Given the description of an element on the screen output the (x, y) to click on. 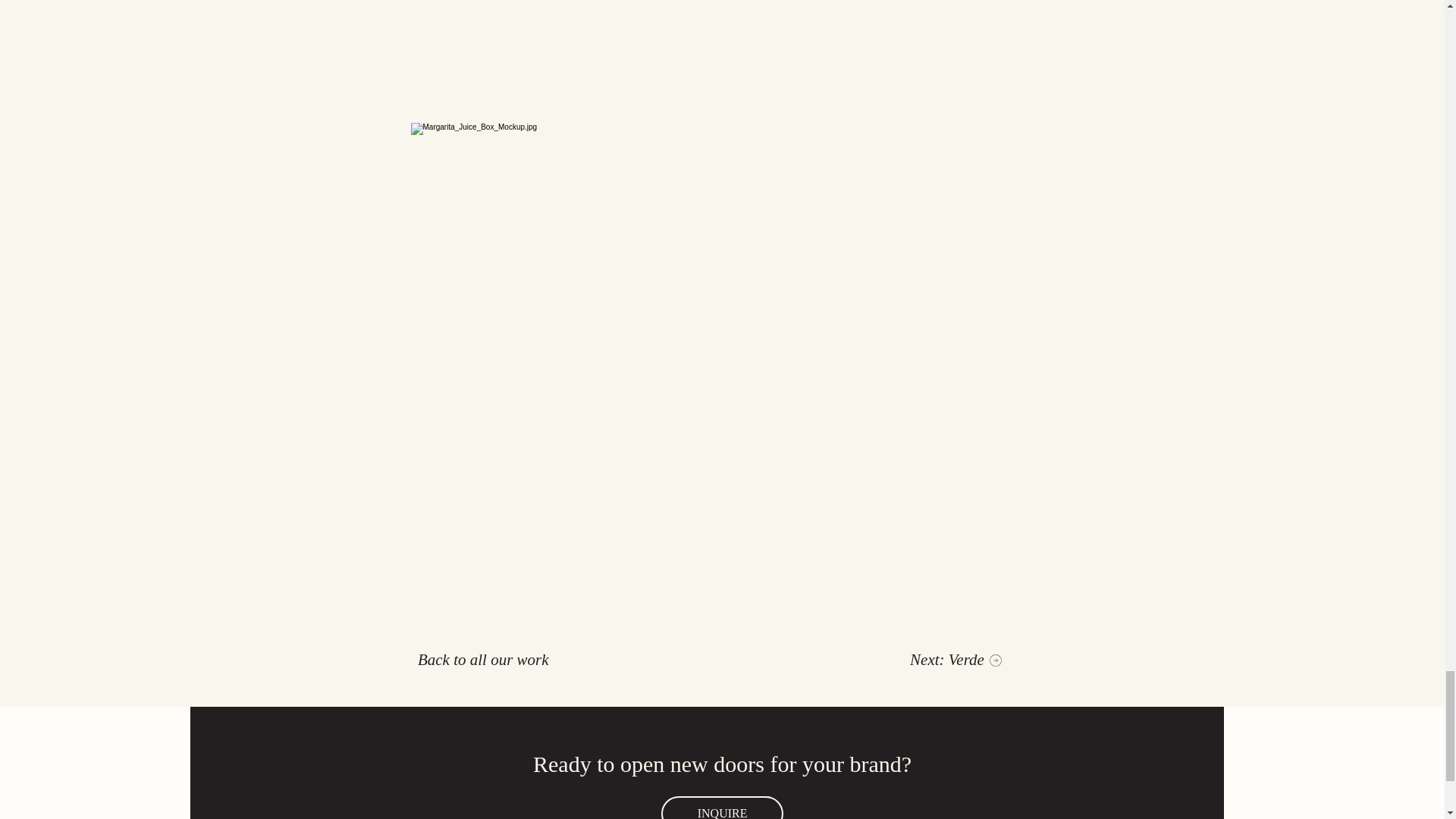
Next: Verde (955, 659)
Back to all our work (484, 659)
INQUIRE (722, 807)
